Given the description of an element on the screen output the (x, y) to click on. 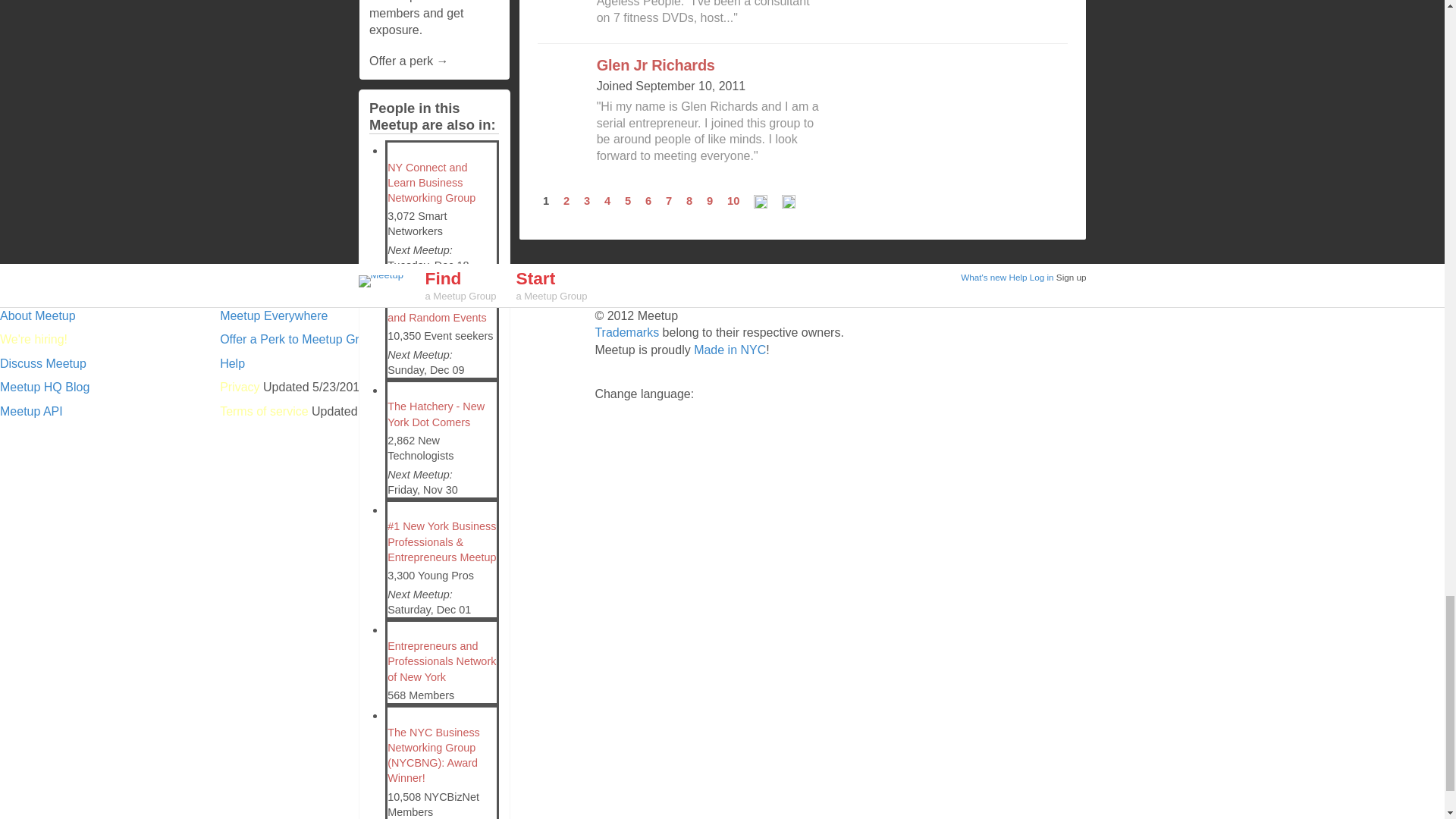
Glen Jr Richards (655, 64)
